Given the description of an element on the screen output the (x, y) to click on. 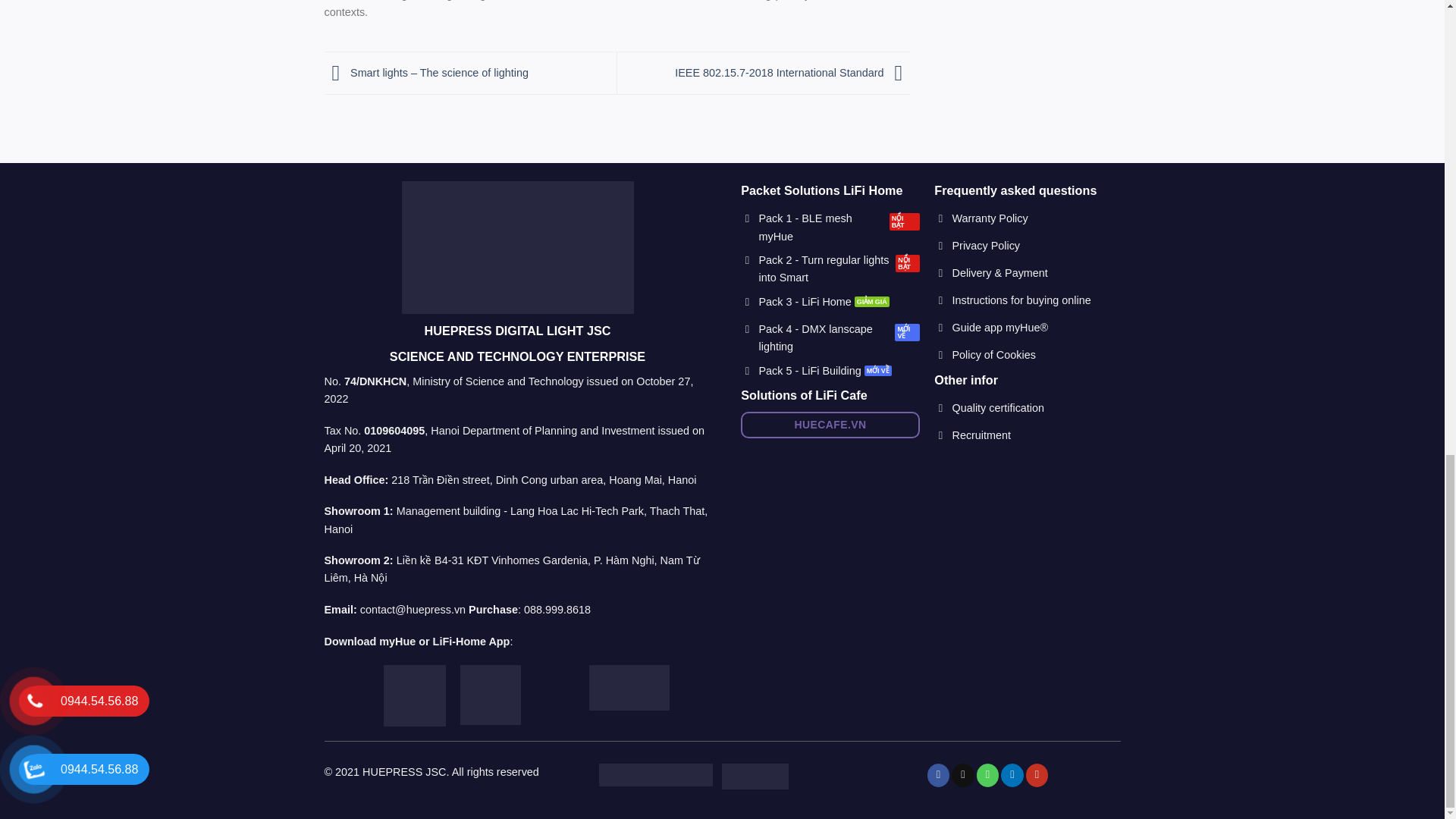
Call us (987, 774)
Follow on Facebook (938, 774)
DMCA.com Protection Status (655, 774)
Send us an email (963, 774)
Follow on YouTube (1037, 774)
Follow on LinkedIn (1012, 774)
